Given the description of an element on the screen output the (x, y) to click on. 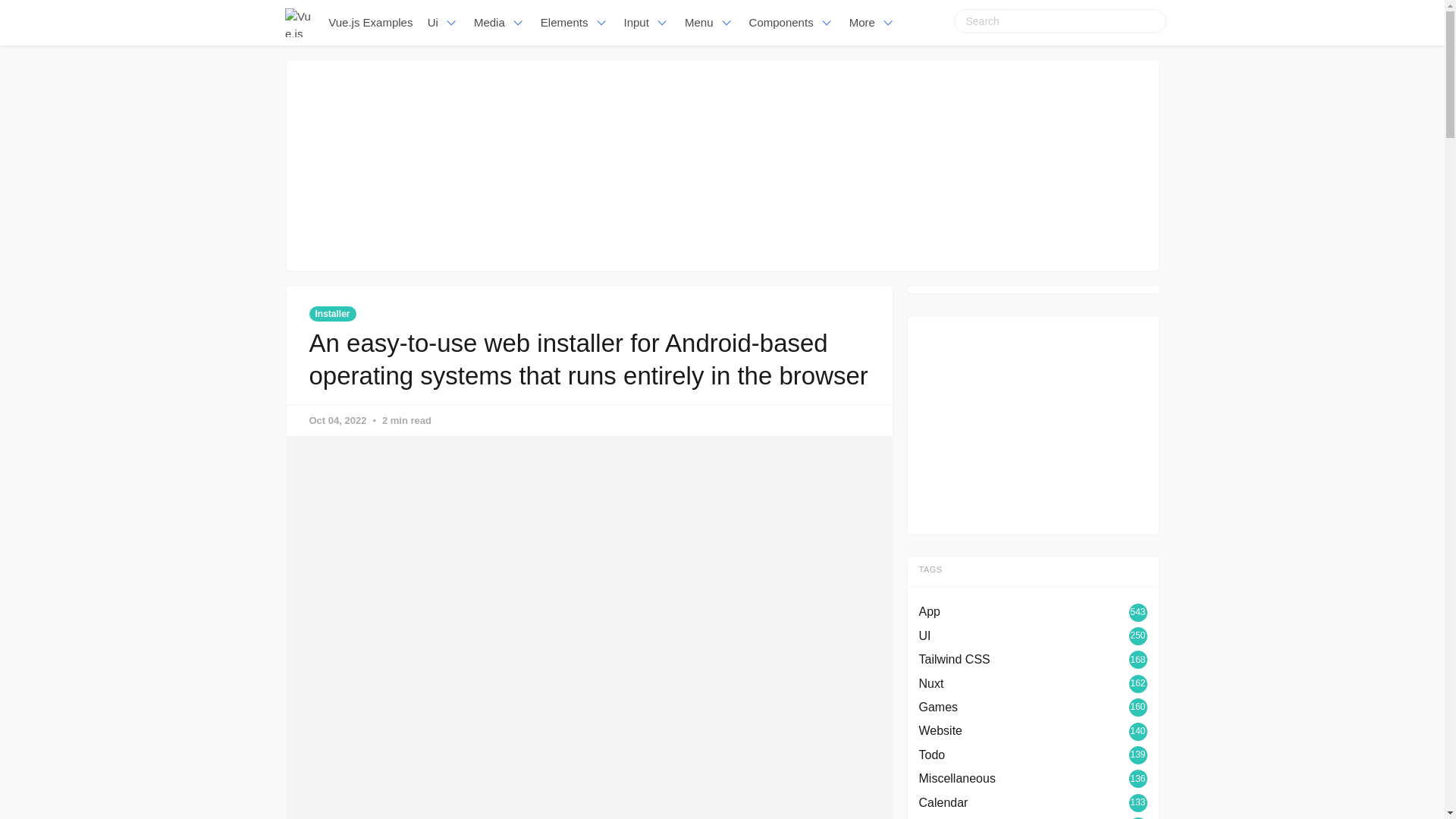
Elements (573, 22)
Vue.js Examples (370, 22)
Media (498, 22)
Ui (442, 22)
